Given the description of an element on the screen output the (x, y) to click on. 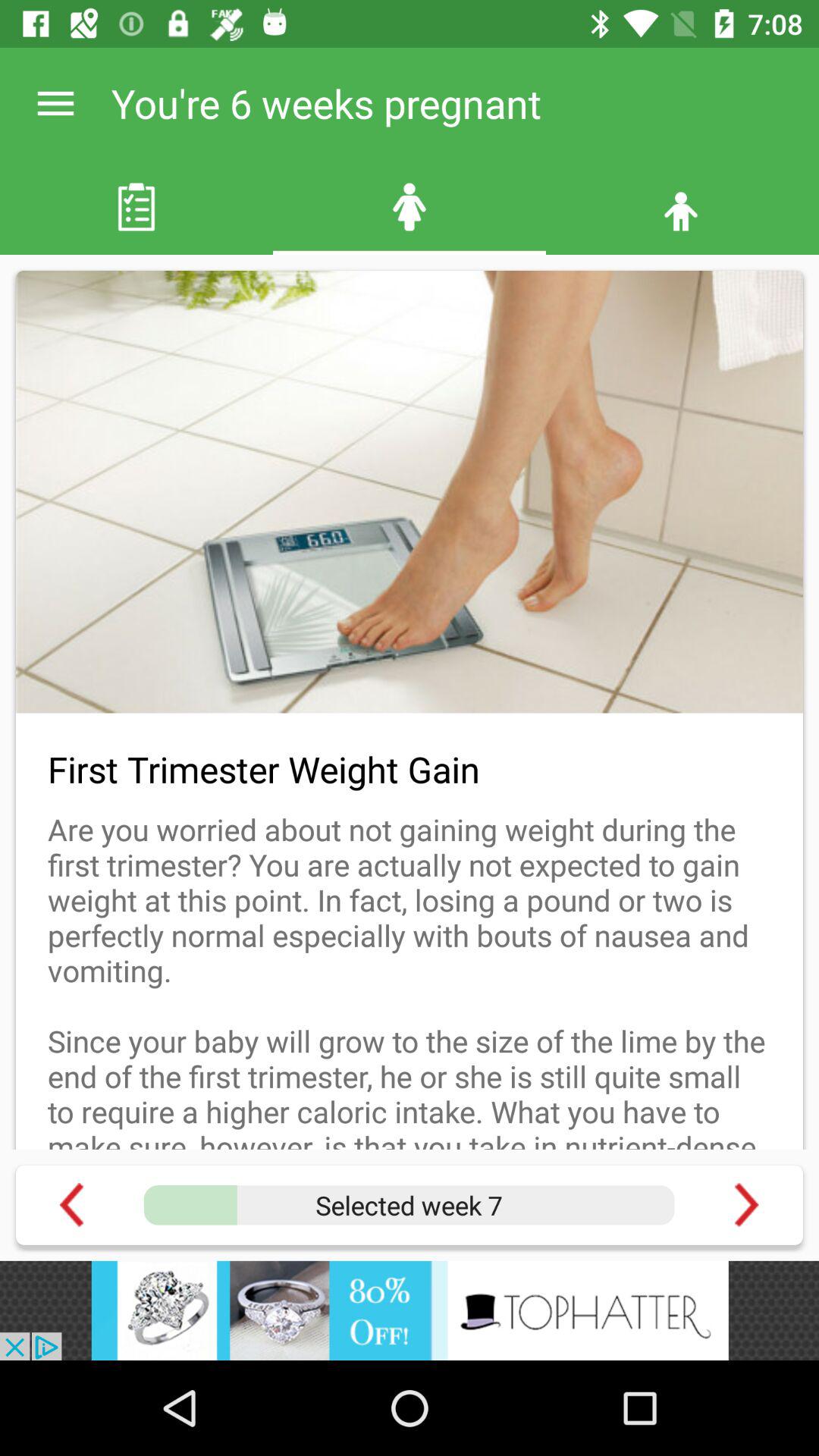
go to next page (746, 1204)
